Given the description of an element on the screen output the (x, y) to click on. 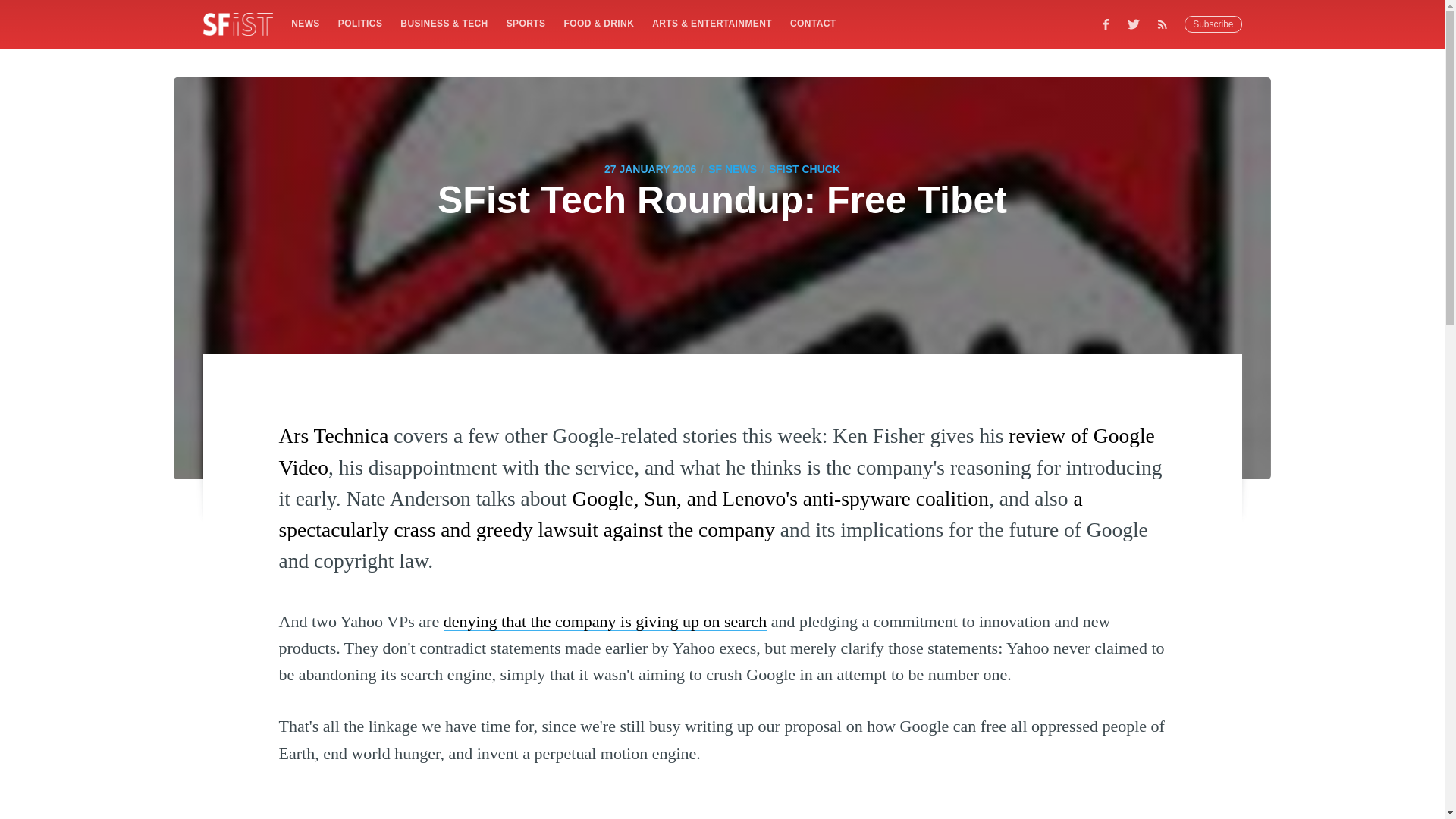
review of Google Video (716, 451)
Google, Sun, and Lenovo's anti-spyware coalition (780, 498)
a spectacularly crass and greedy lawsuit against the company (681, 513)
denying that the company is giving up on search (605, 620)
SPORTS (525, 23)
NEWS (305, 23)
POLITICS (360, 23)
Twitter (1133, 23)
Facebook (1106, 23)
SFIST CHUCK (804, 168)
